Given the description of an element on the screen output the (x, y) to click on. 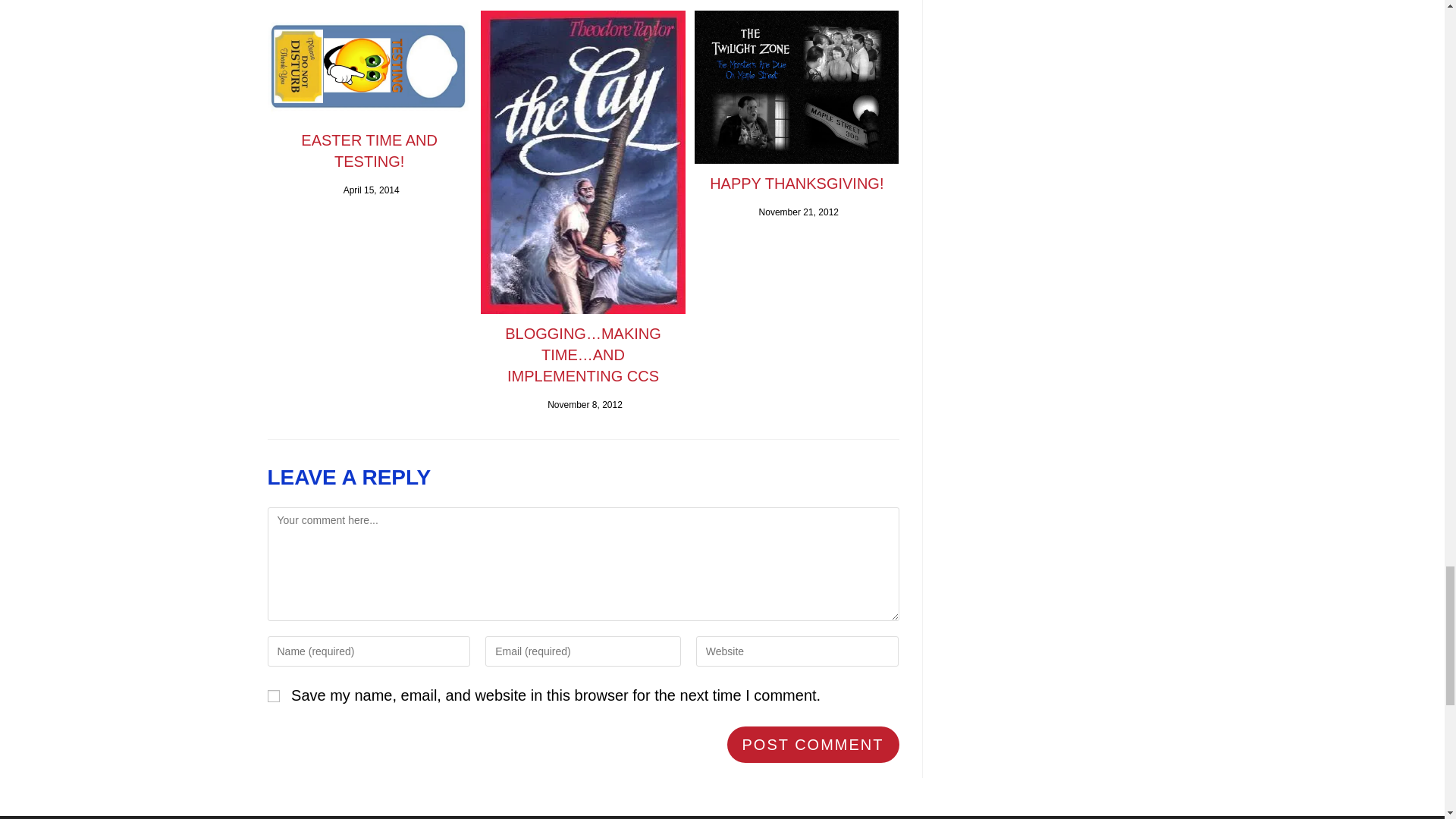
Post Comment (812, 744)
HAPPY THANKSGIVING! (796, 183)
yes (272, 695)
Happy Thanksgiving! 20 (796, 86)
Easter time and Testing! 18 (368, 65)
EASTER TIME AND TESTING! (368, 150)
